Given the description of an element on the screen output the (x, y) to click on. 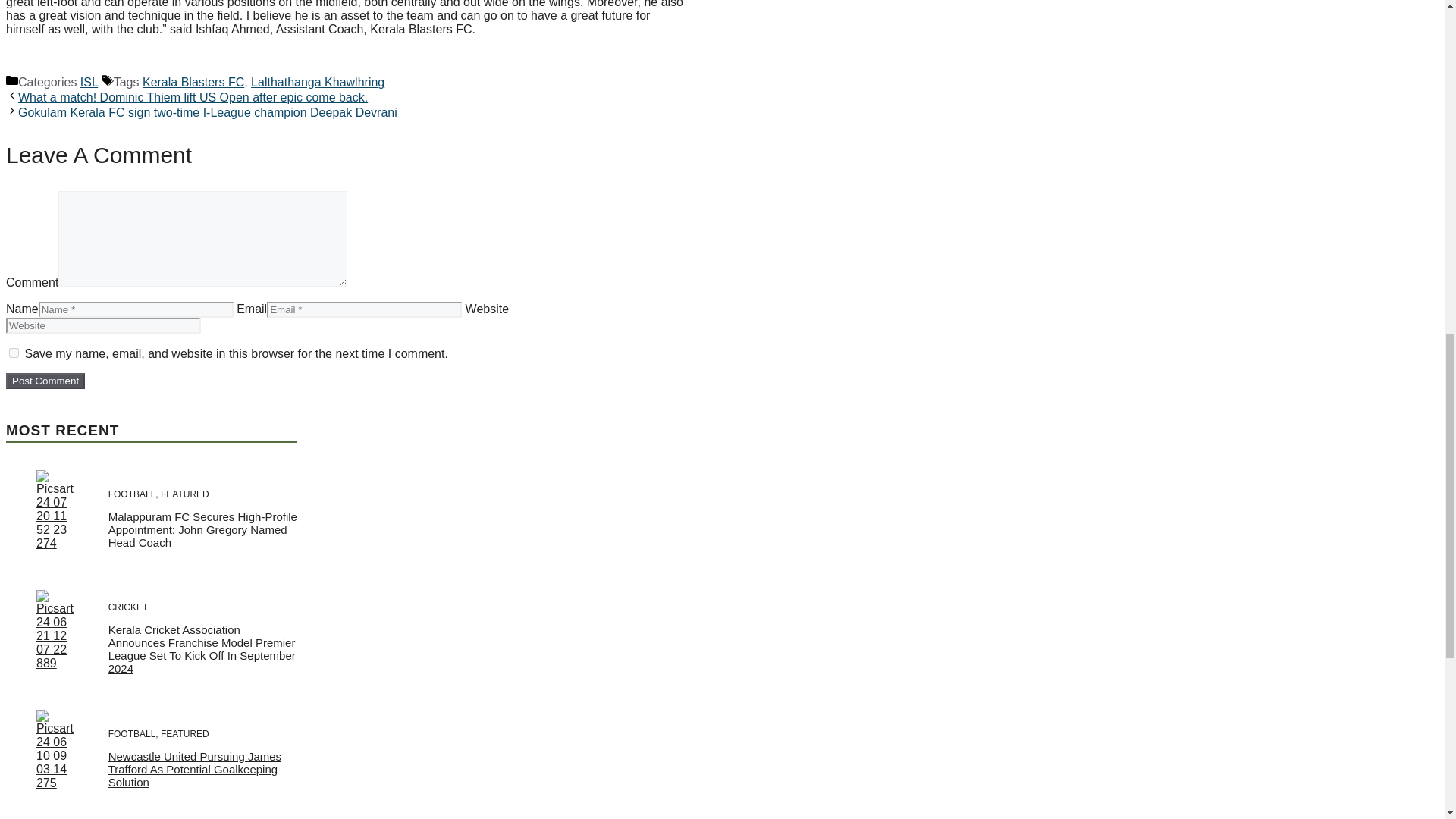
ISL (88, 82)
Lalthathanga Khawlhring (317, 82)
Kerala Blasters FC (193, 82)
Post Comment (44, 381)
Post Comment (44, 381)
yes (13, 352)
